Given the description of an element on the screen output the (x, y) to click on. 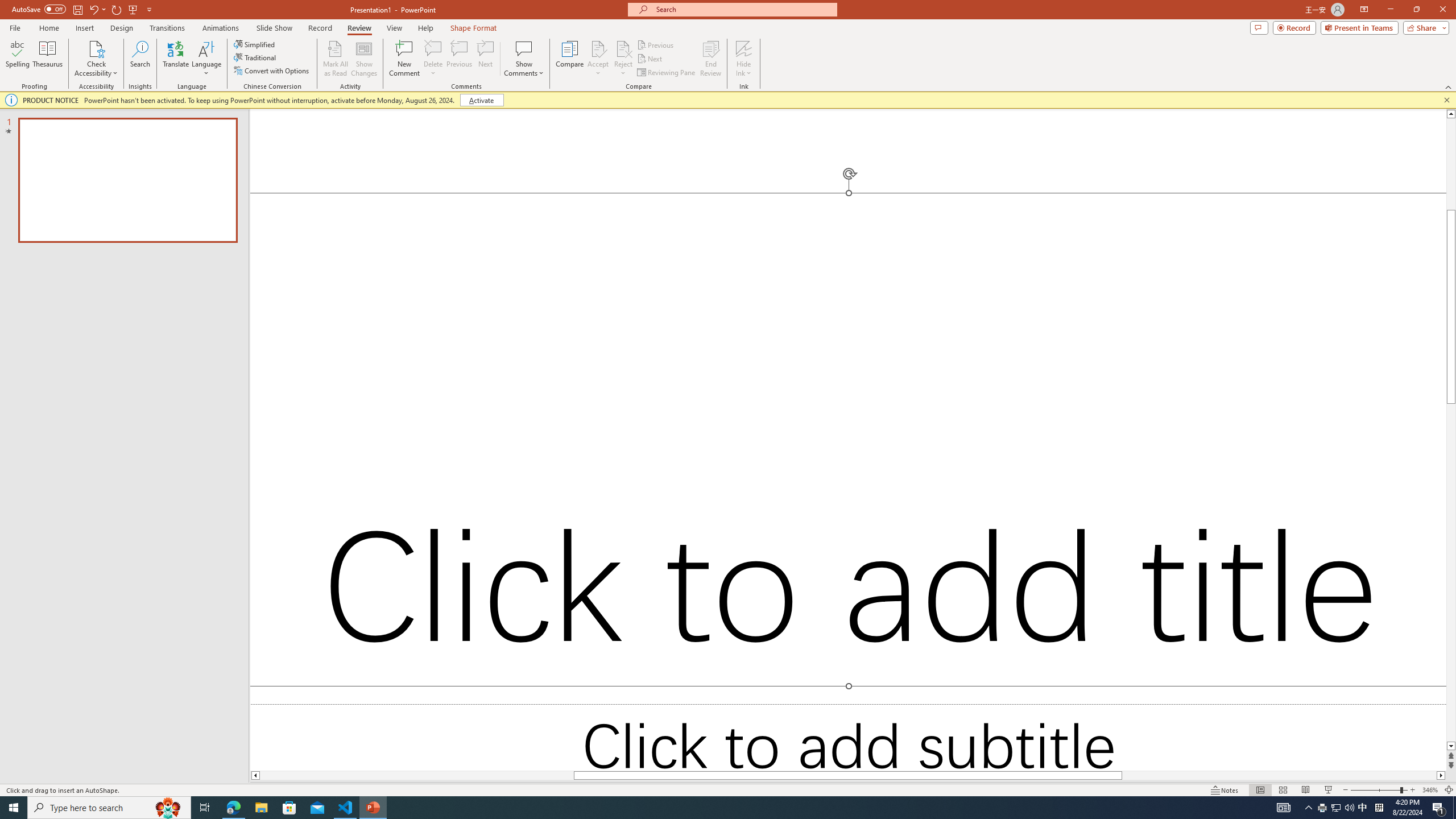
Simplified (254, 44)
Convert with Options... (272, 69)
Accept Change (598, 48)
Reject (622, 58)
Show Changes (363, 58)
Mark All as Read (335, 58)
Thesaurus... (47, 58)
